Given the description of an element on the screen output the (x, y) to click on. 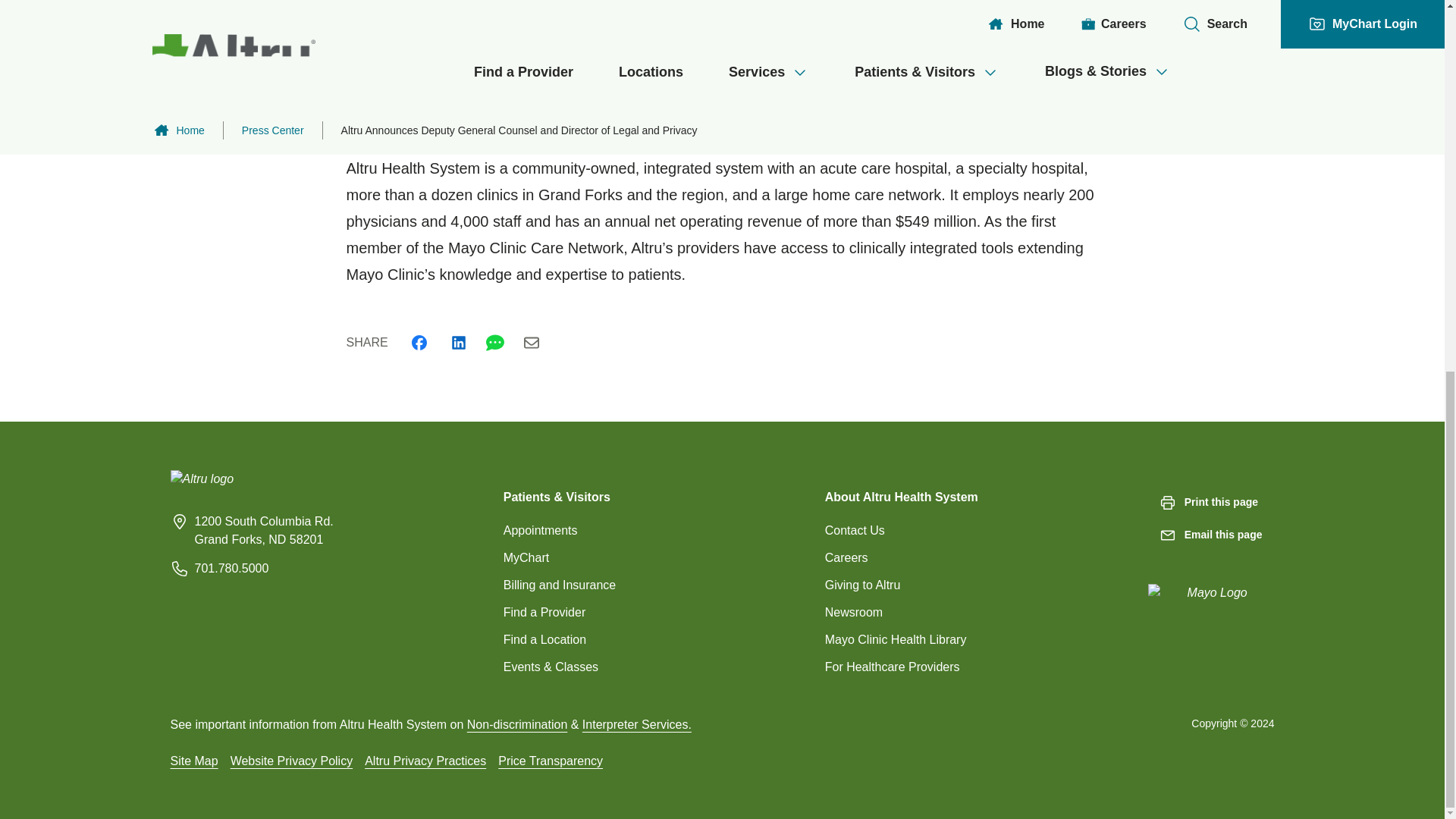
Facebook (418, 342)
Linkedin (457, 342)
Email (530, 342)
